Given the description of an element on the screen output the (x, y) to click on. 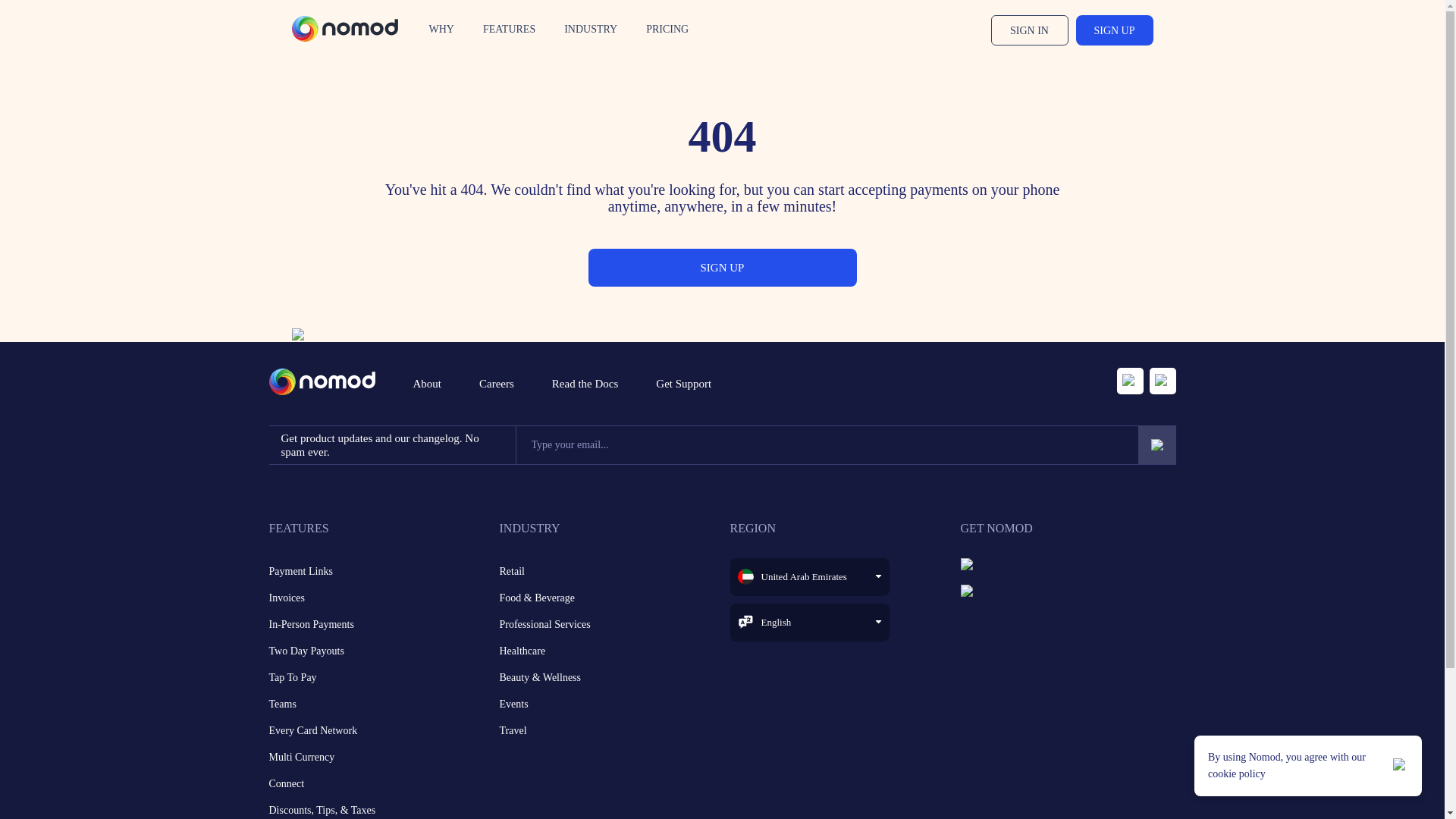
SIGN UP (1114, 30)
FEATURES (509, 30)
INDUSTRY (590, 30)
SIGN IN (1032, 30)
PRICING (667, 30)
